Given the description of an element on the screen output the (x, y) to click on. 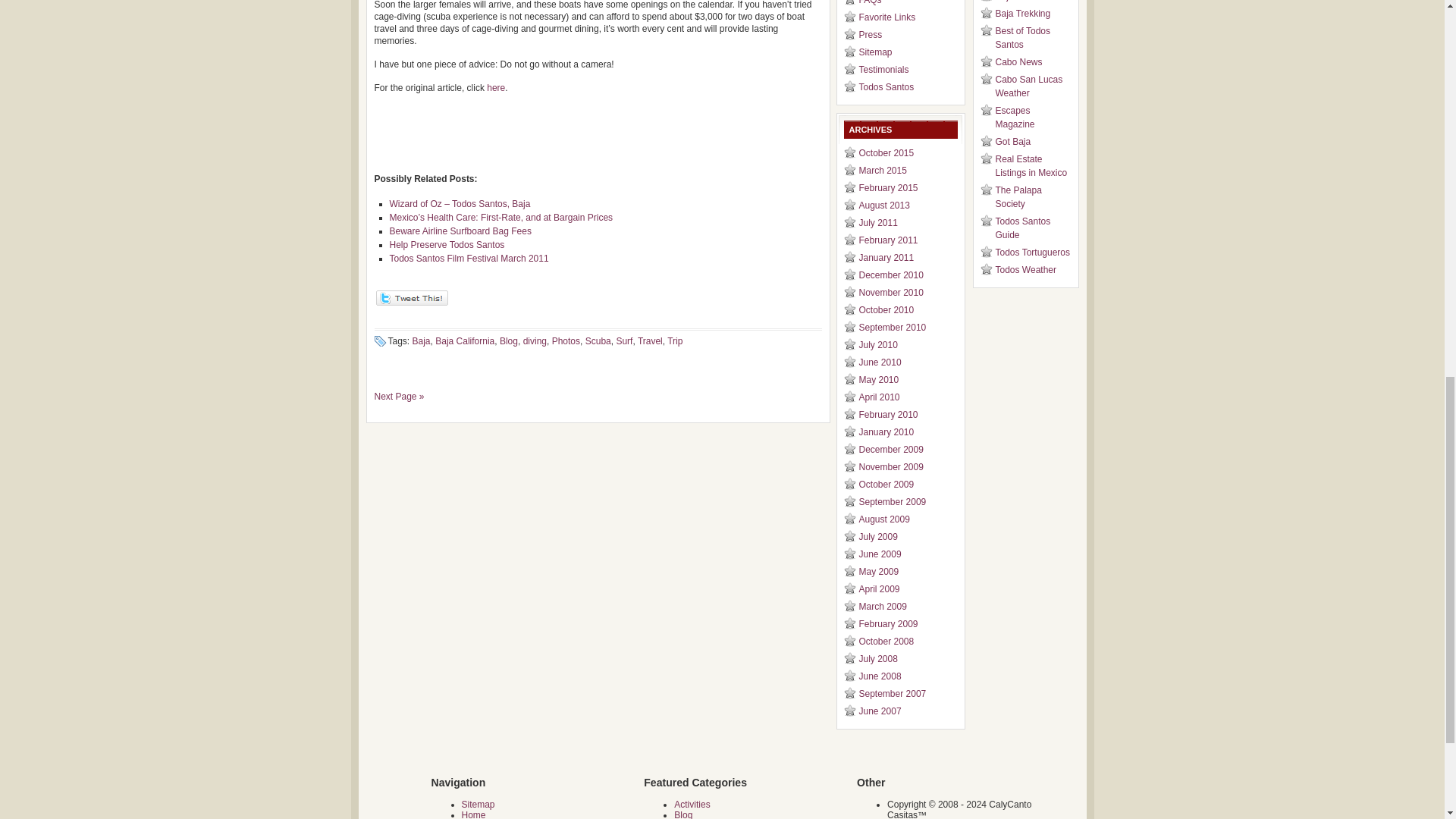
Post to Twitter (411, 302)
